Given the description of an element on the screen output the (x, y) to click on. 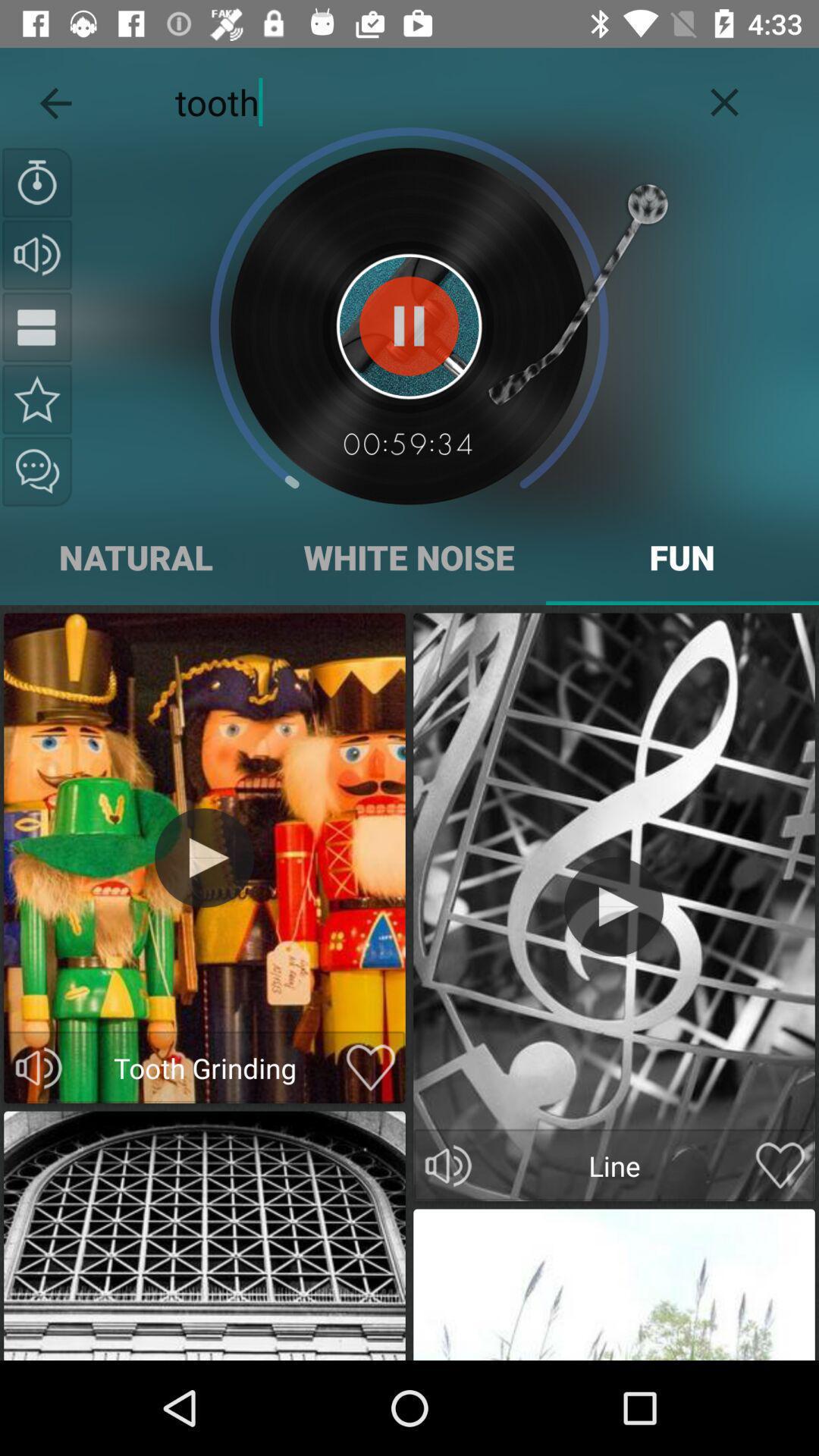
mark as favorite (780, 1165)
